Given the description of an element on the screen output the (x, y) to click on. 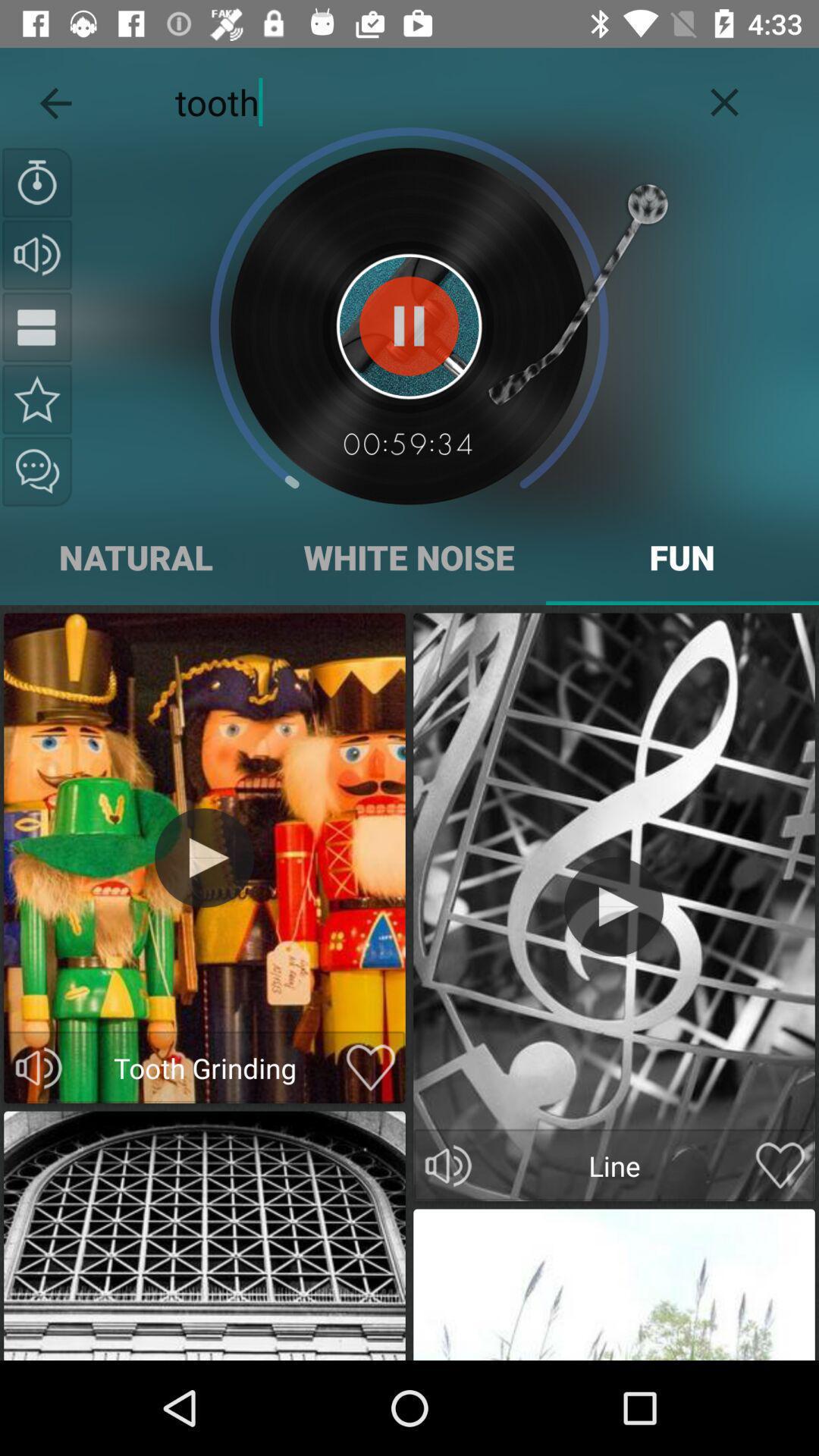
mark as favorite (780, 1165)
